Given the description of an element on the screen output the (x, y) to click on. 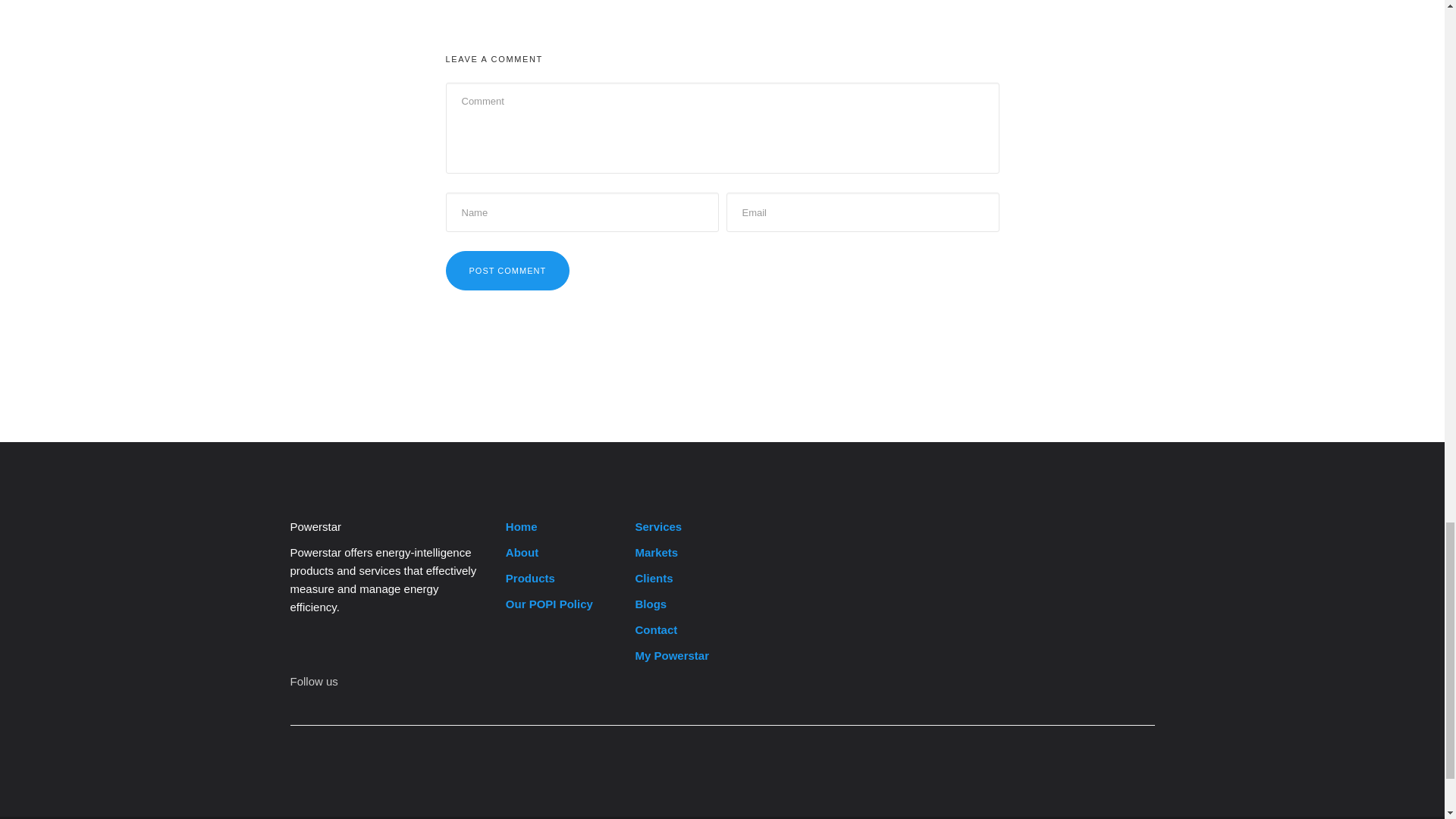
Post Comment (507, 270)
